Given the description of an element on the screen output the (x, y) to click on. 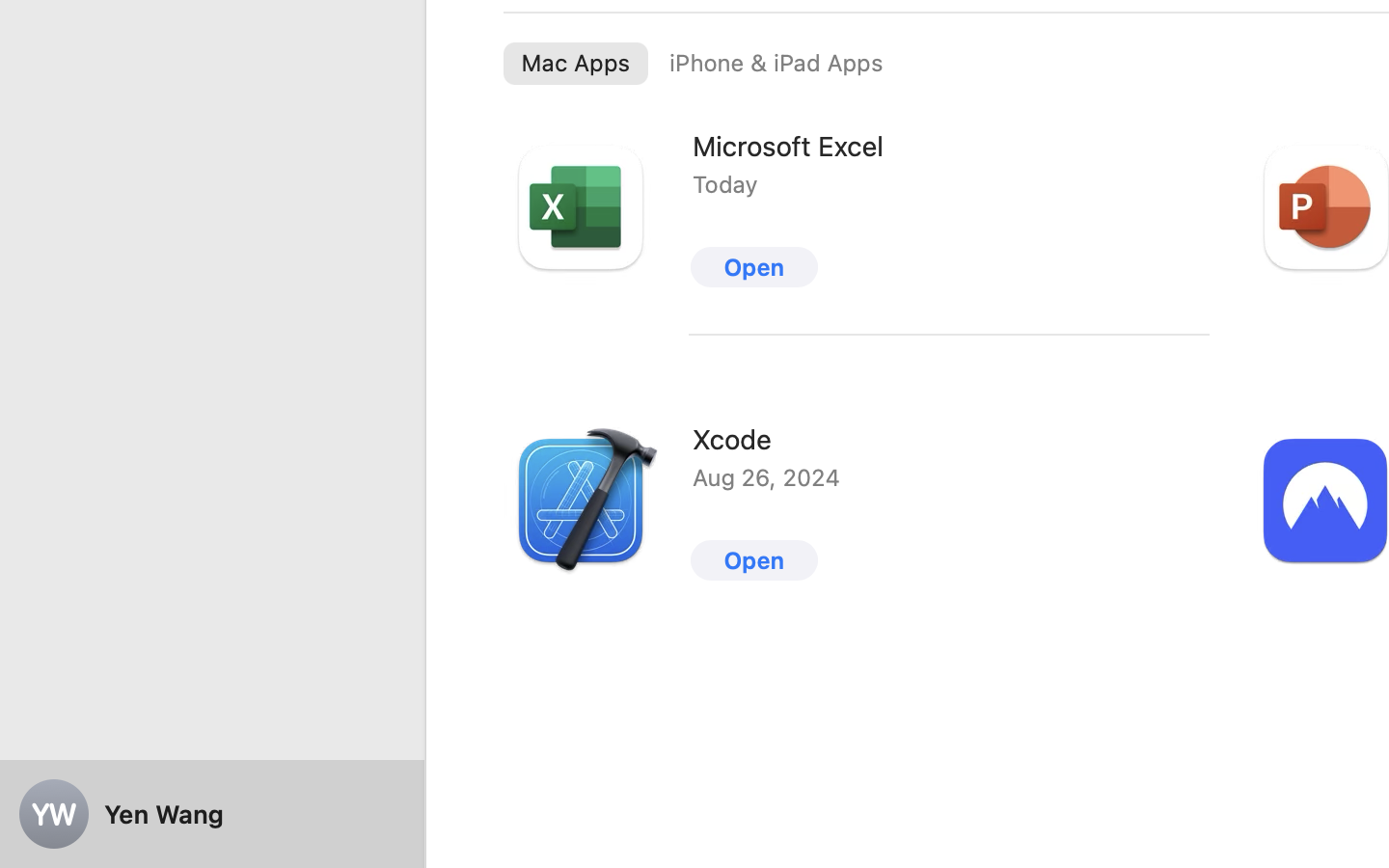
Yen Wang Element type: AXButton (212, 813)
